Given the description of an element on the screen output the (x, y) to click on. 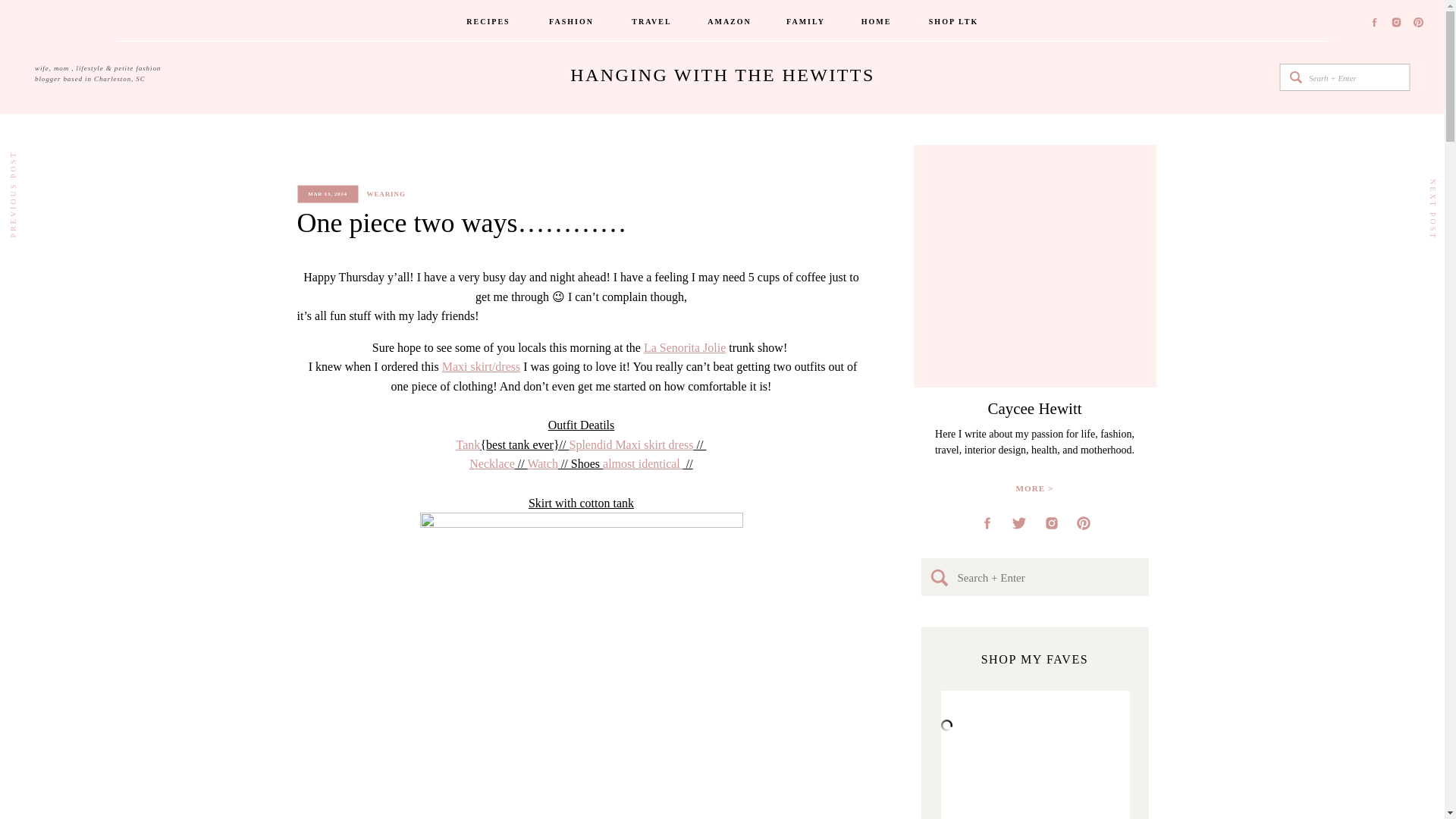
HANGING WITH THE HEWITTS (722, 76)
TRAVEL (650, 23)
FAMILY (806, 23)
FASHION (571, 23)
WEARING (386, 194)
La Senorita Jolie (684, 347)
Necklace (491, 463)
Watch (542, 463)
AMAZON (729, 23)
Splendid Maxi skirt dress (631, 444)
